Given the description of an element on the screen output the (x, y) to click on. 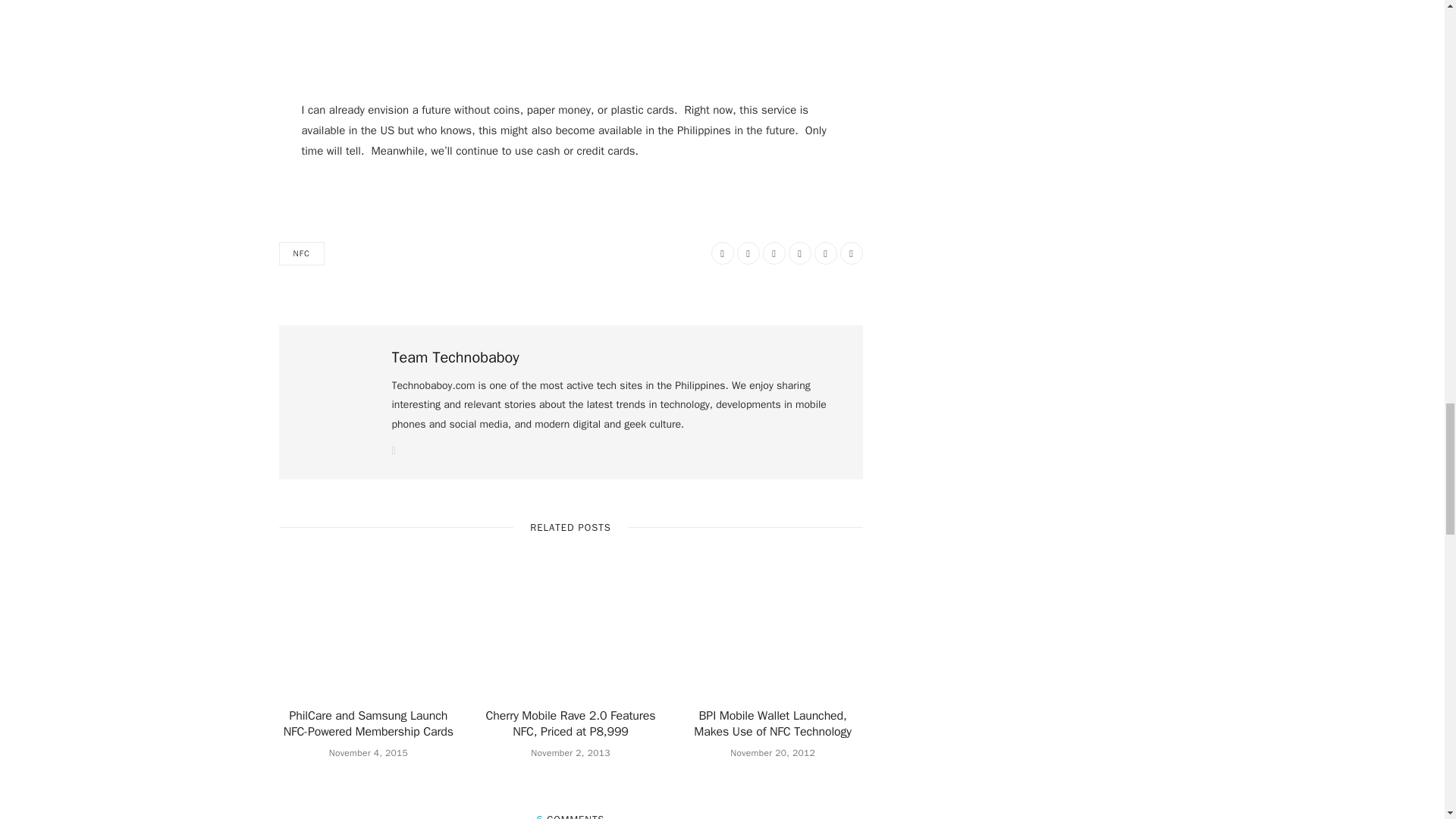
Cherry Mobile Rave 2.0 Features NFC, Priced at P8,999 (571, 724)
Team Technobaboy (454, 357)
November 4, 2015 (368, 752)
google-wallet-41 (569, 38)
Facebook (722, 252)
PhilCare and Samsung Launch NFC-Powered Membership Cards (367, 724)
Email (851, 252)
Pinterest (799, 252)
NFC (301, 253)
Twitter (748, 252)
